Given the description of an element on the screen output the (x, y) to click on. 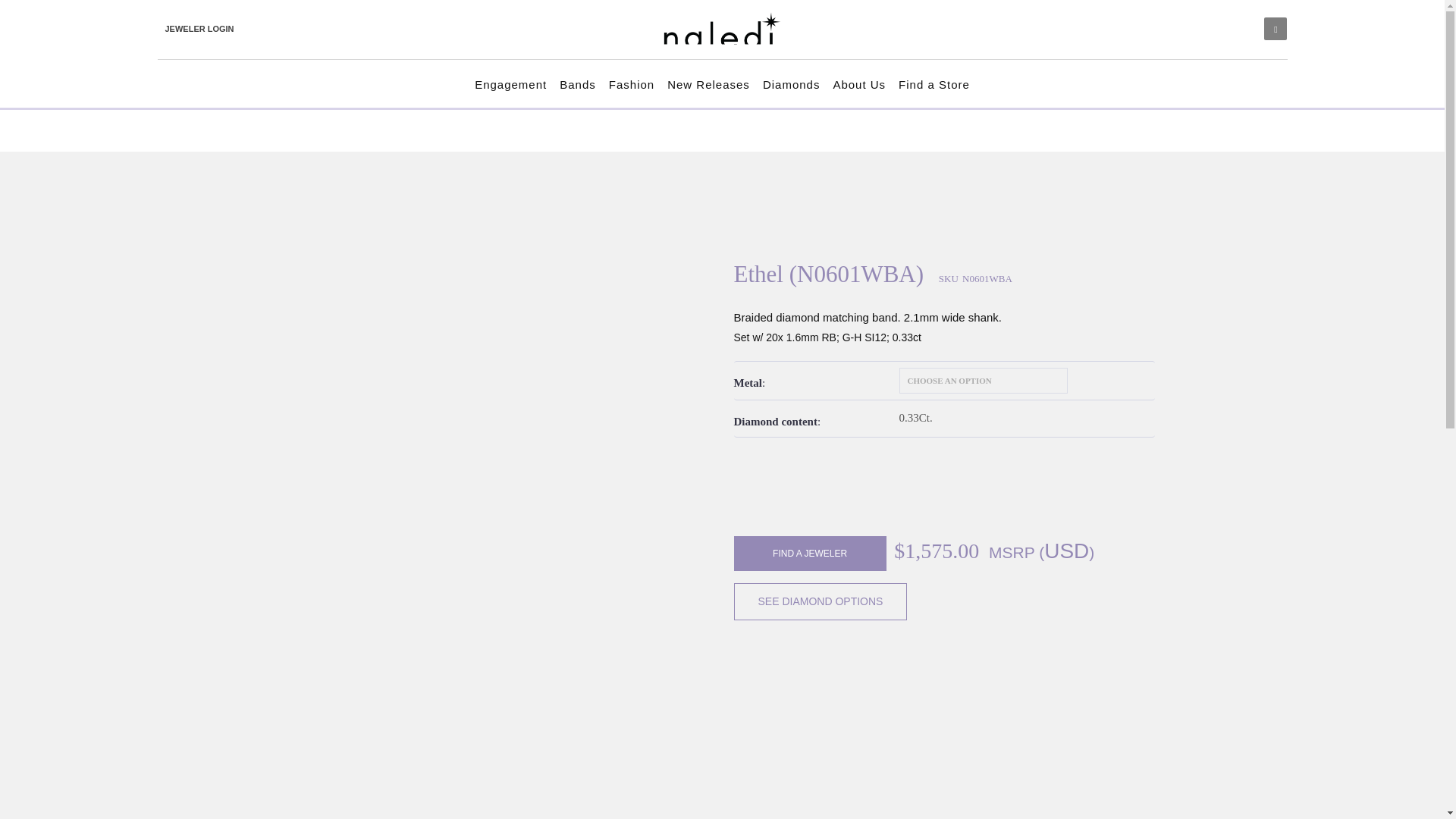
JEWELER LOGIN (199, 28)
Diamonds (791, 84)
About Us (858, 84)
SEE DIAMOND OPTIONS (820, 601)
Fashion (631, 84)
Find a Store (933, 84)
New Releases (708, 84)
Bands (576, 84)
Engagement (510, 84)
FIND A JEWELER (809, 553)
